Given the description of an element on the screen output the (x, y) to click on. 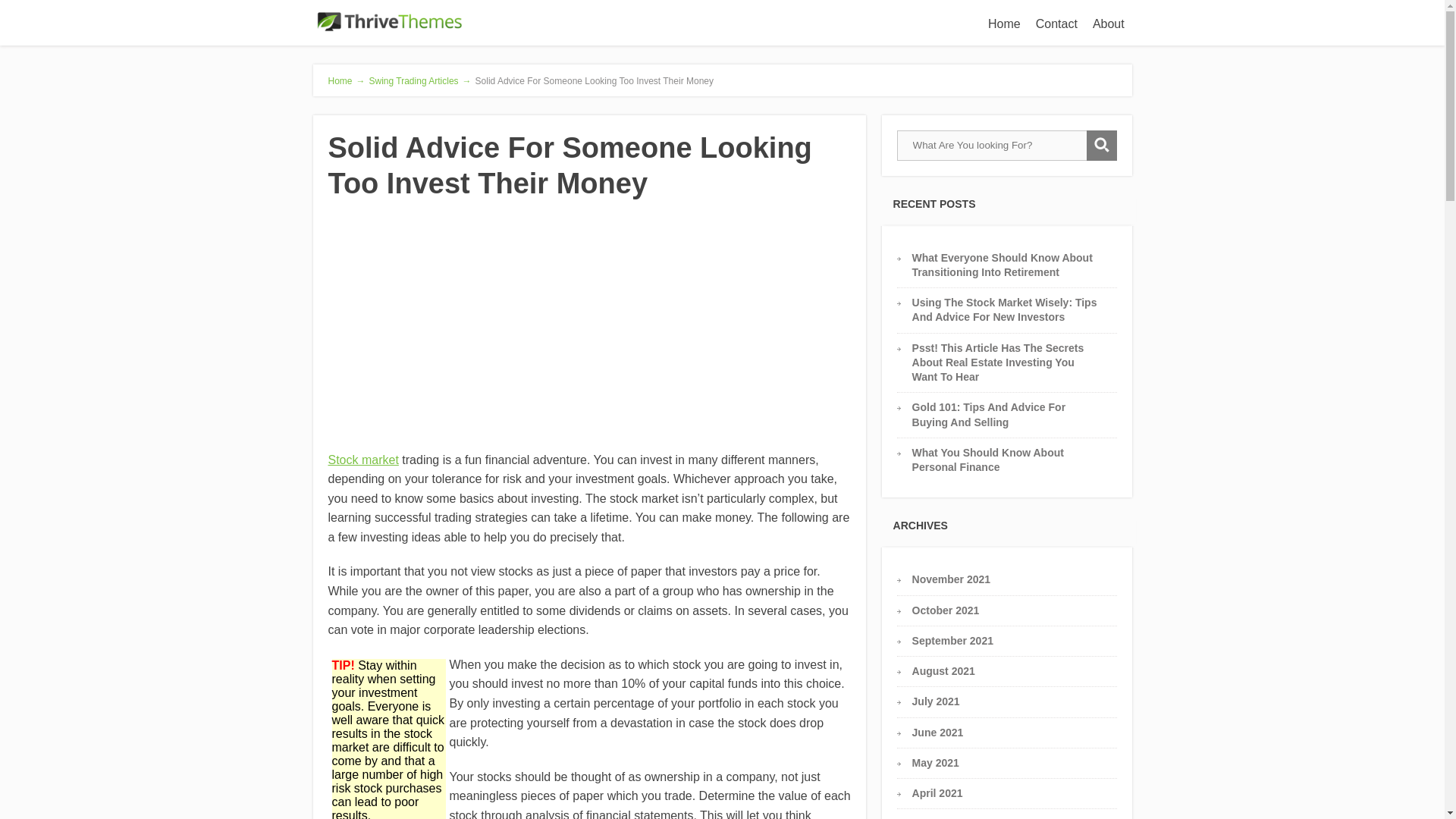
September 2021 (952, 640)
Stock market (362, 459)
About (1108, 23)
January 2021 (945, 818)
What You Should Know About Personal Finance (988, 459)
August 2021 (943, 671)
July 2021 (935, 701)
June 2021 (937, 732)
